Given the description of an element on the screen output the (x, y) to click on. 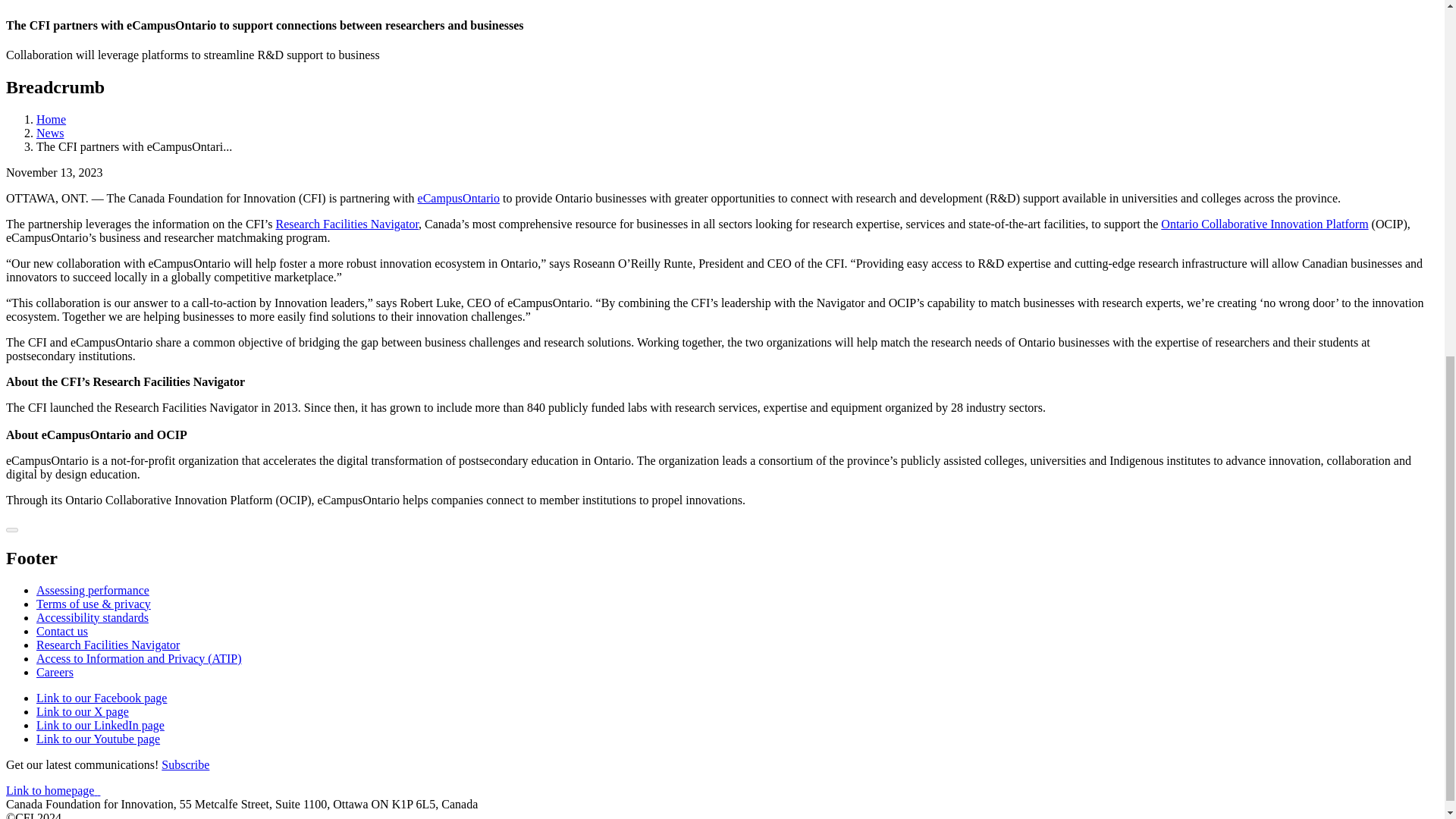
eCampusOntario (458, 197)
Home (50, 119)
Ontario Collaborative Innovation Platform (1264, 223)
News (50, 132)
Assessing performance (92, 590)
Research Facilities Navigator (347, 223)
